Given the description of an element on the screen output the (x, y) to click on. 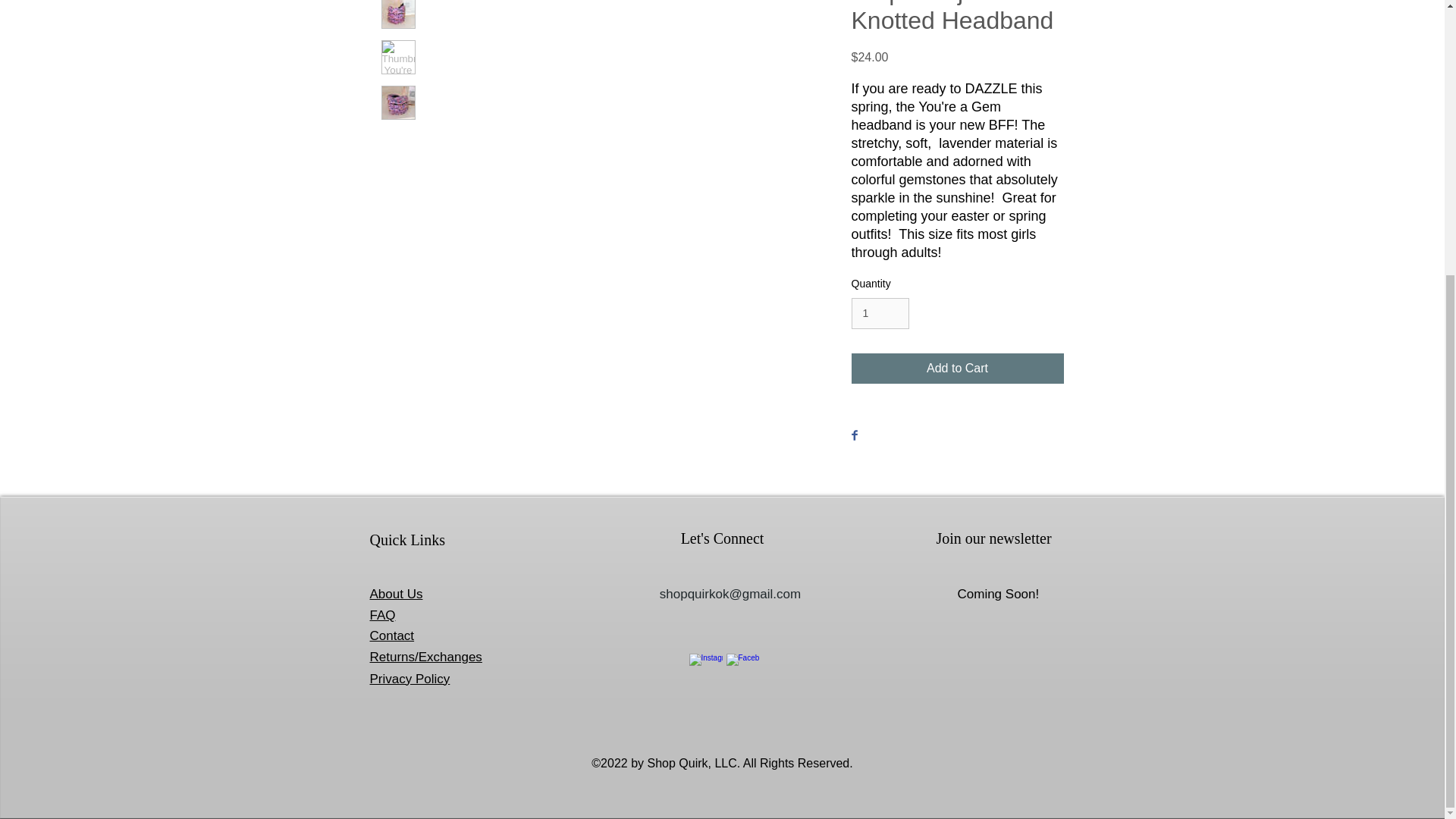
1 (879, 313)
Add to Cart (956, 368)
FAQ (382, 615)
